Given the description of an element on the screen output the (x, y) to click on. 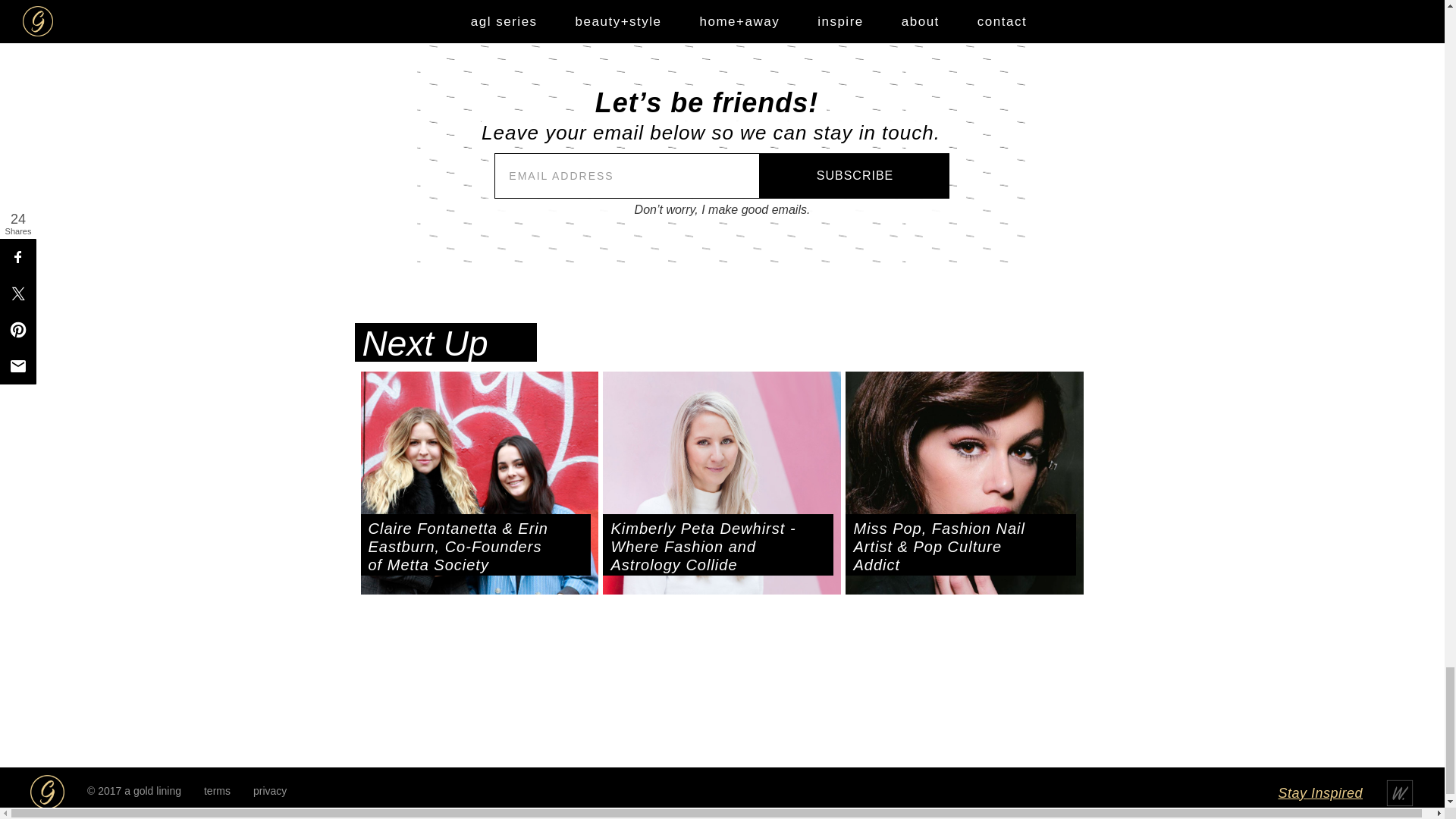
Subscribe (854, 176)
Kimberly Peta Dewhirst - Where Fashion and Astrology Collide (717, 546)
Subscribe (854, 176)
